Given the description of an element on the screen output the (x, y) to click on. 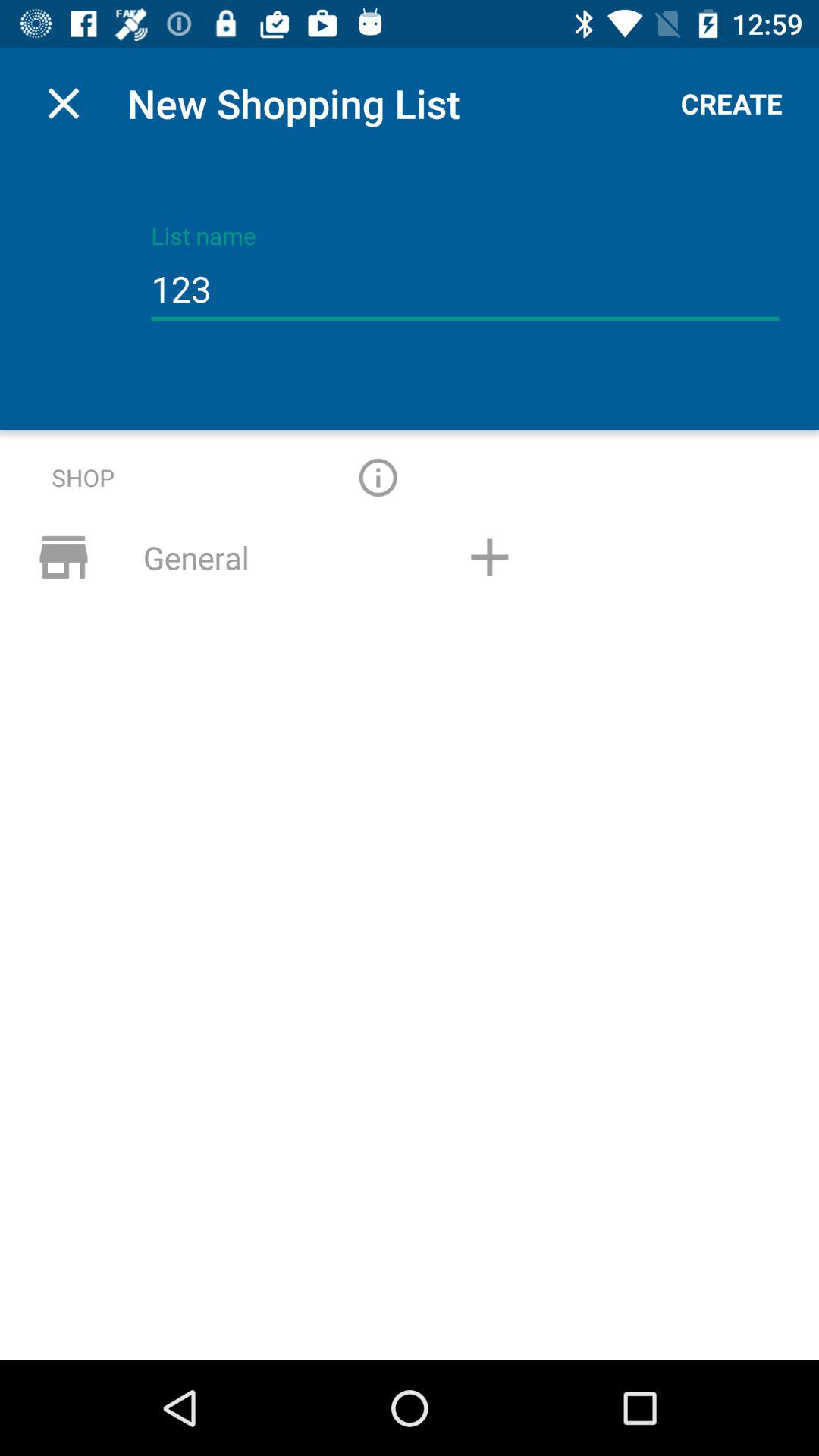
exit shopping list (63, 103)
